Given the description of an element on the screen output the (x, y) to click on. 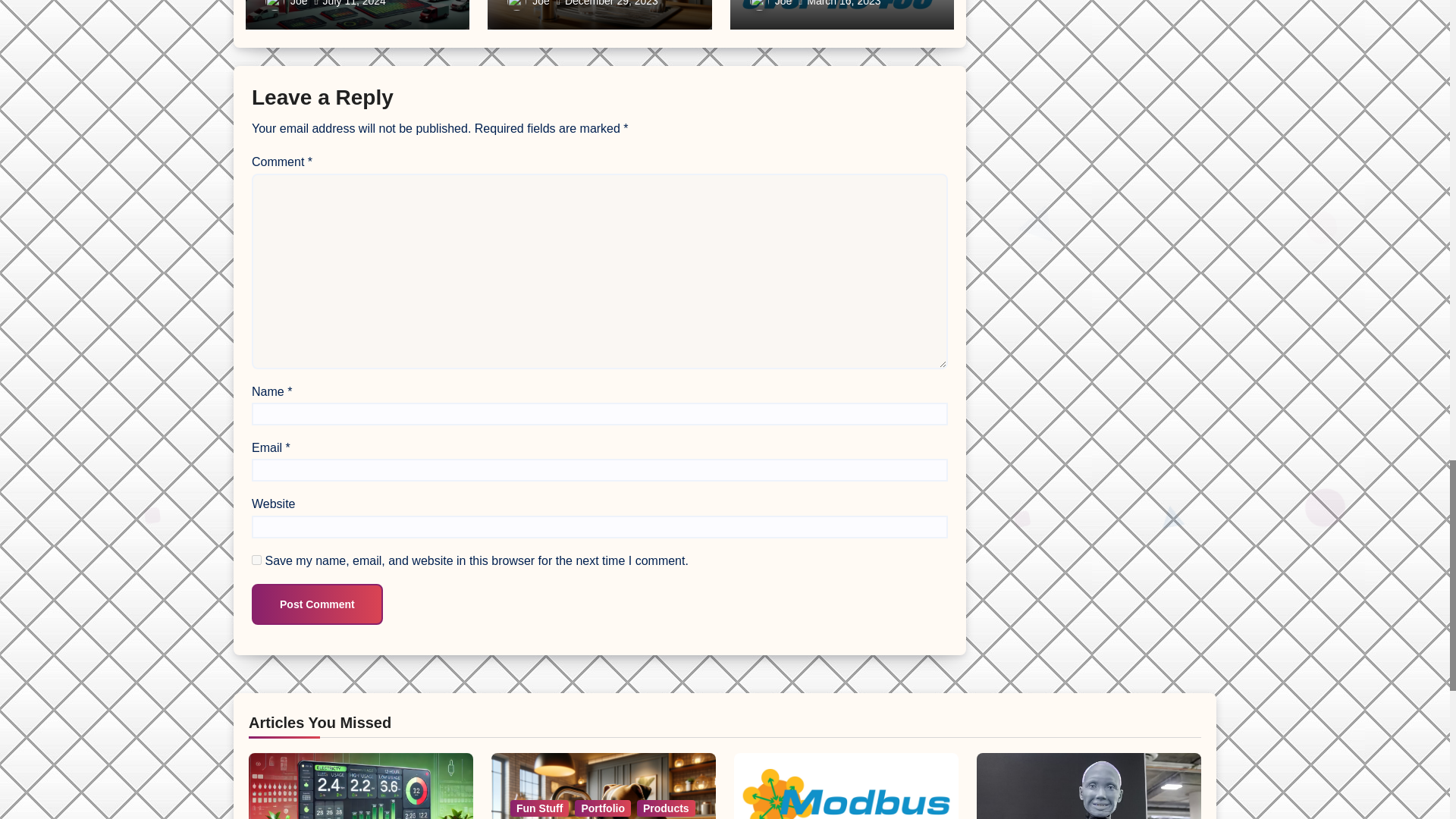
Post Comment (316, 603)
yes (256, 560)
